Given the description of an element on the screen output the (x, y) to click on. 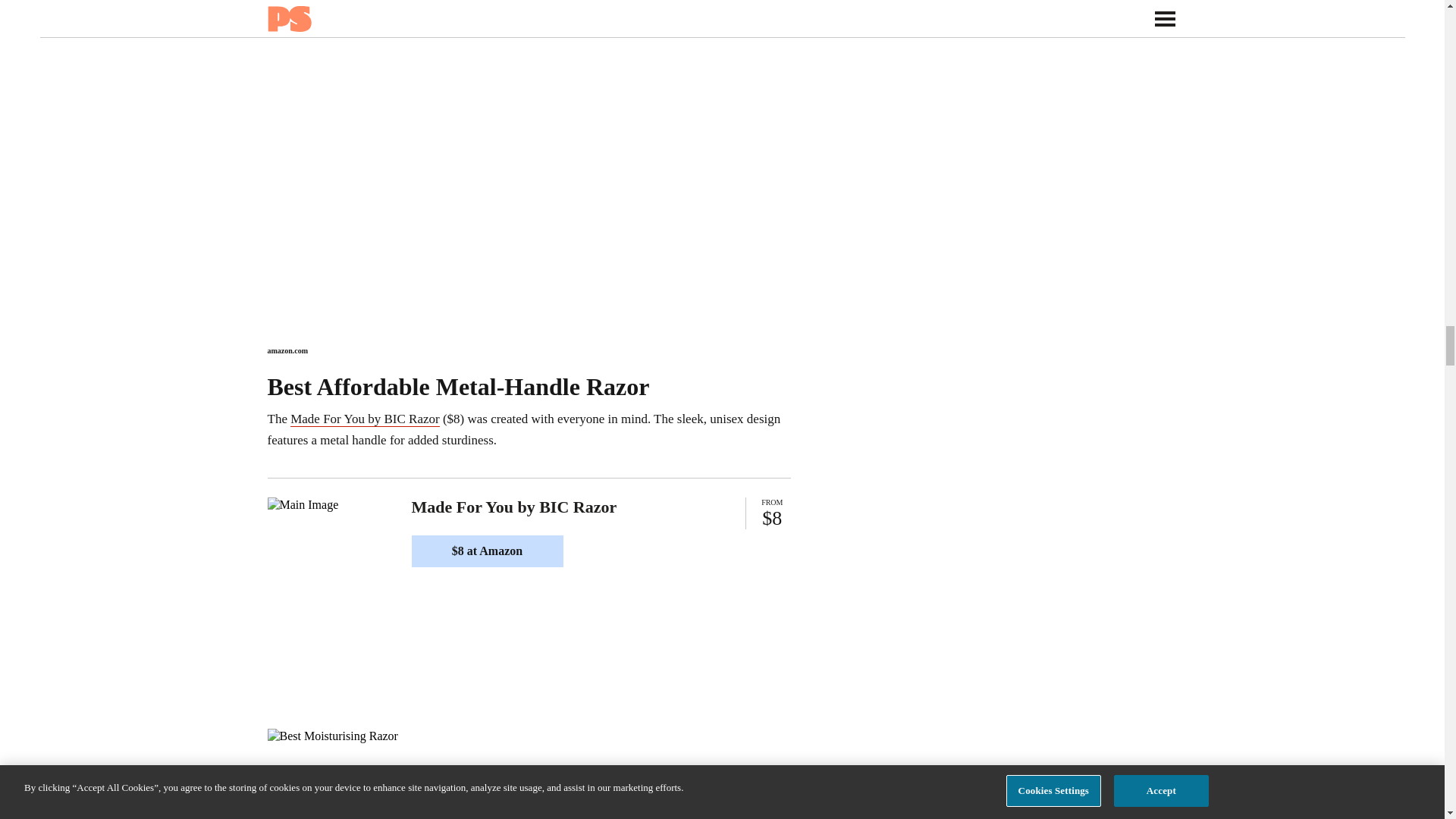
amazon.com (286, 350)
Made For You by BIC Razor (364, 418)
